Given the description of an element on the screen output the (x, y) to click on. 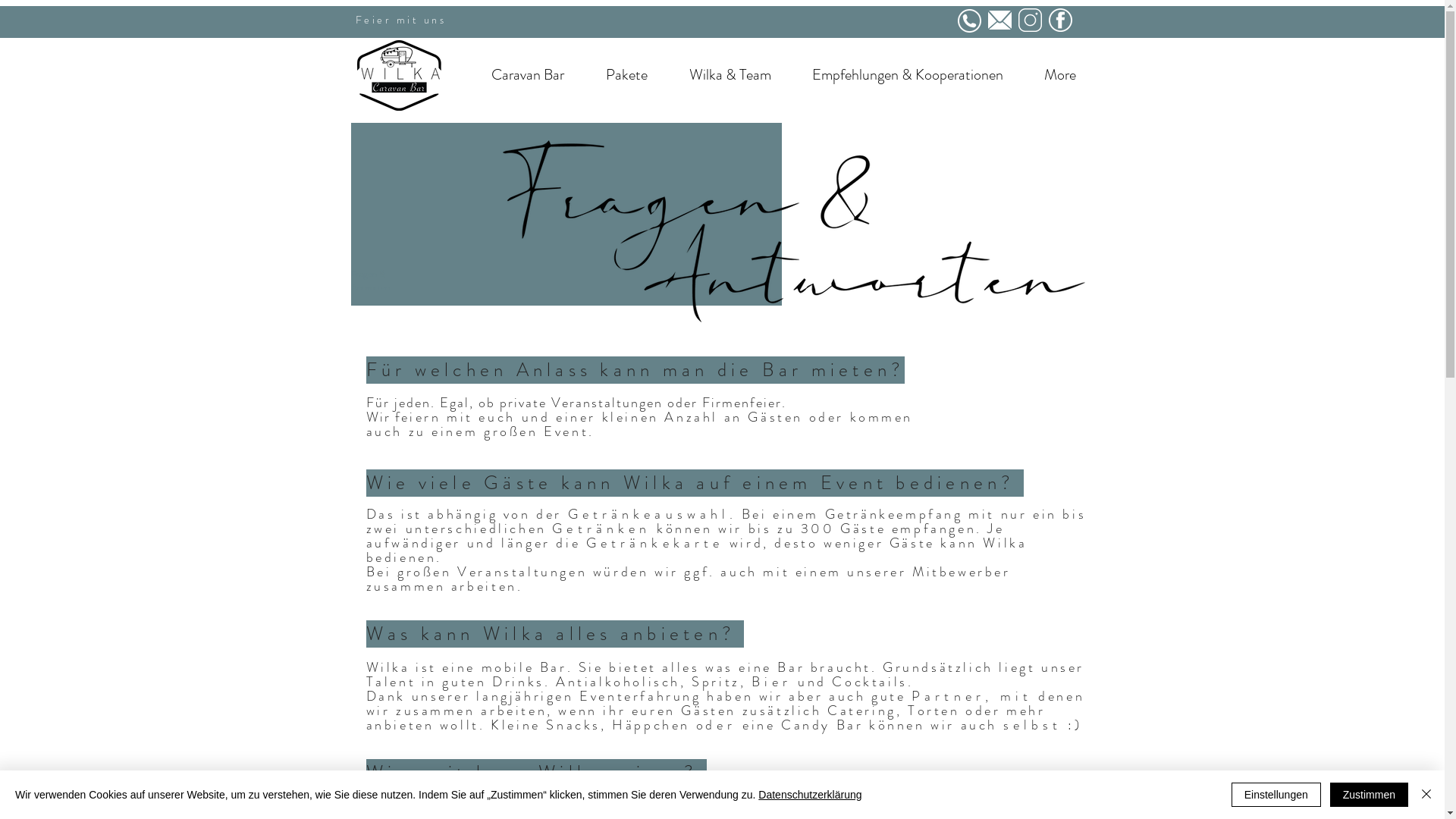
Zustimmen Element type: text (1369, 794)
Wilka & Team Element type: text (729, 74)
Einstellungen Element type: text (1276, 794)
Caravan Bar Element type: text (527, 74)
Empfehlungen & Kooperationen Element type: text (907, 74)
Pakete Element type: text (626, 74)
